Given the description of an element on the screen output the (x, y) to click on. 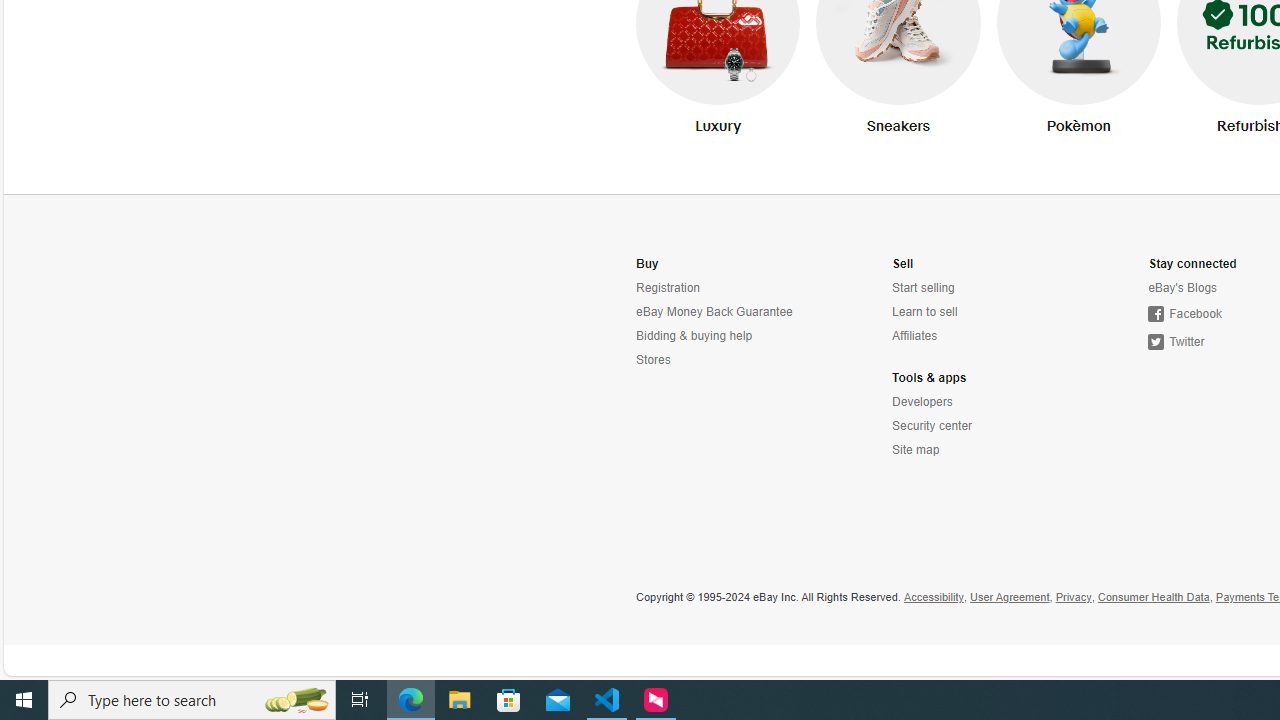
eBay Money Back Guarantee (724, 312)
Stores (724, 360)
Accessibility (932, 597)
Site map (915, 450)
Developers (922, 402)
Developers (981, 402)
Registration (668, 288)
Start selling (923, 288)
Stores (653, 360)
Buy (647, 263)
Twitter (1176, 342)
Registration (724, 288)
Bidding & buying help (724, 335)
